Given the description of an element on the screen output the (x, y) to click on. 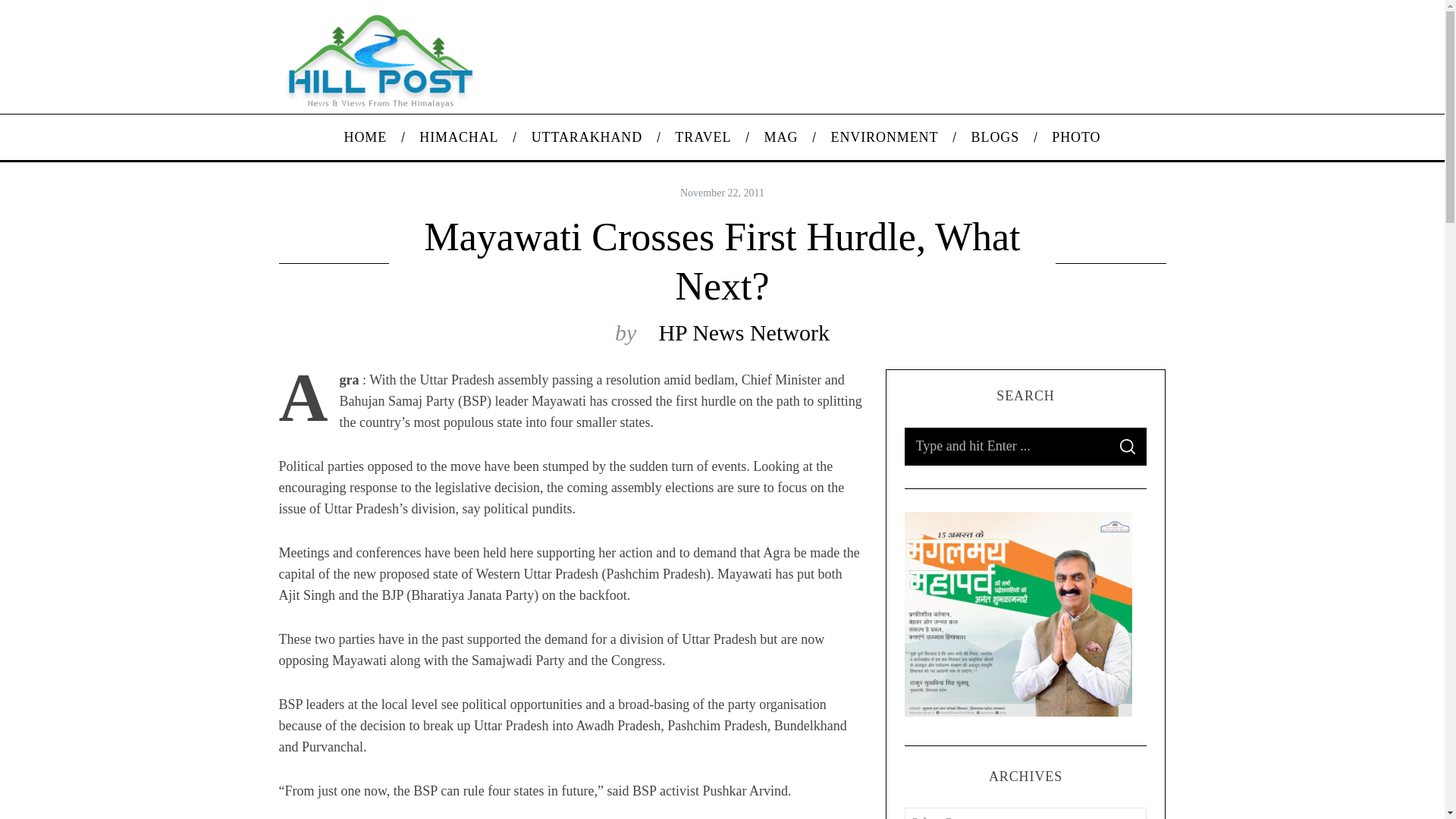
BLOGS (995, 136)
SEARCH (1127, 446)
PHOTO (1075, 136)
